Given the description of an element on the screen output the (x, y) to click on. 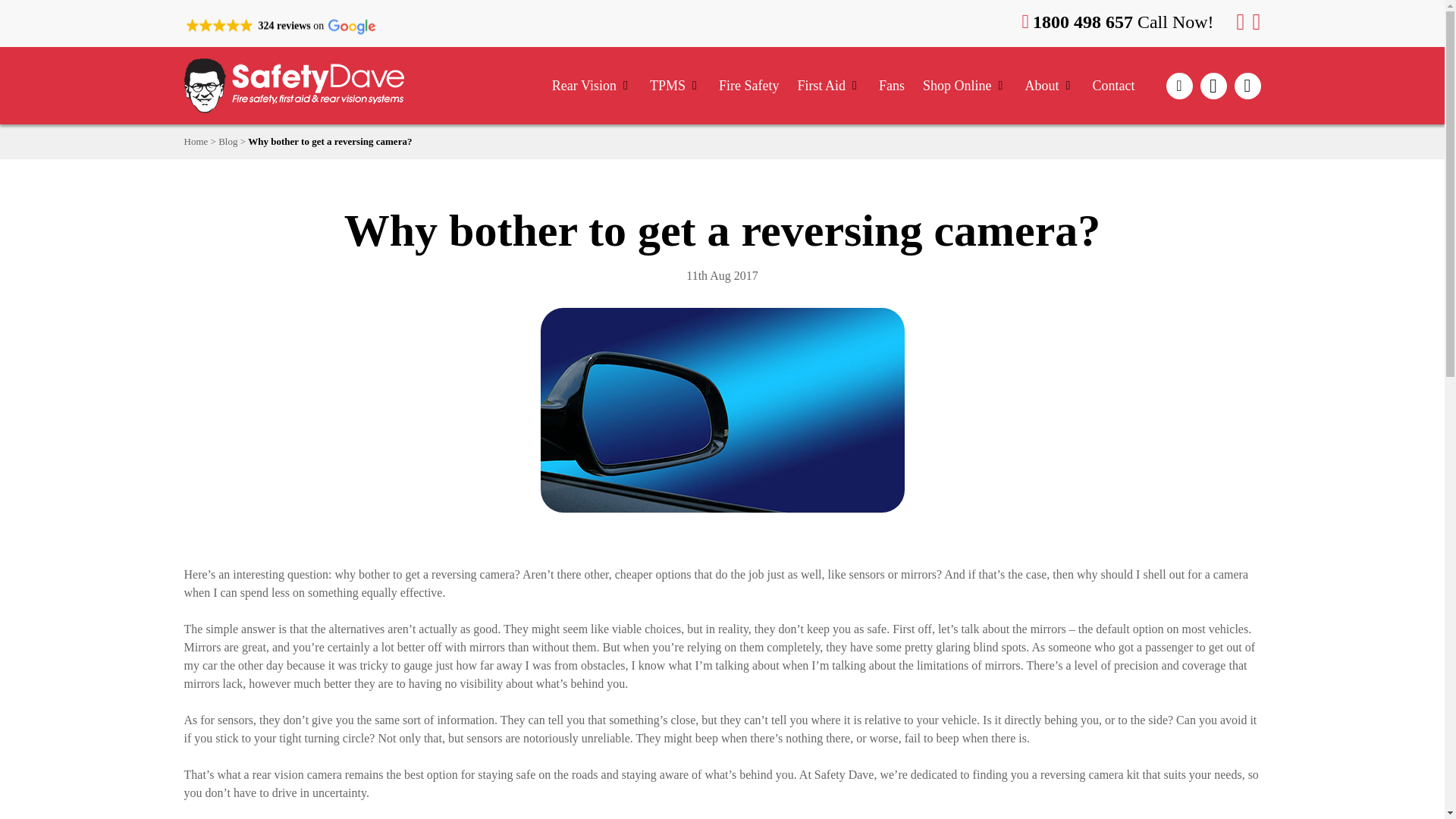
Fire Safety (748, 85)
TPMS (674, 85)
Shop Online (965, 85)
Rear Vision (591, 85)
First Aid (828, 85)
324 reviews on (279, 27)
1800 498 657 Call Now! (1125, 21)
Fans (891, 85)
